Given the description of an element on the screen output the (x, y) to click on. 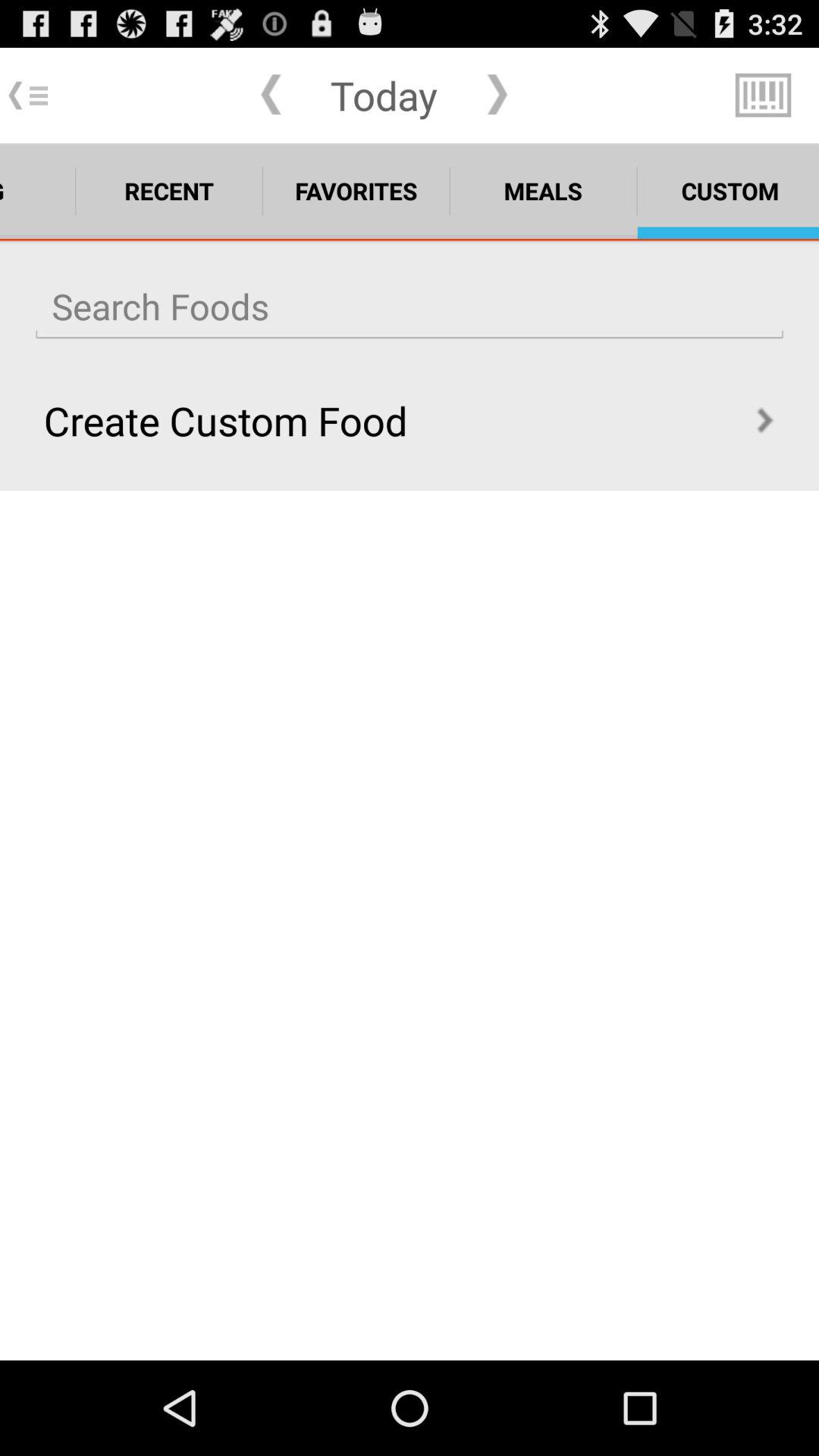
select app above the favorites (383, 94)
